Given the description of an element on the screen output the (x, y) to click on. 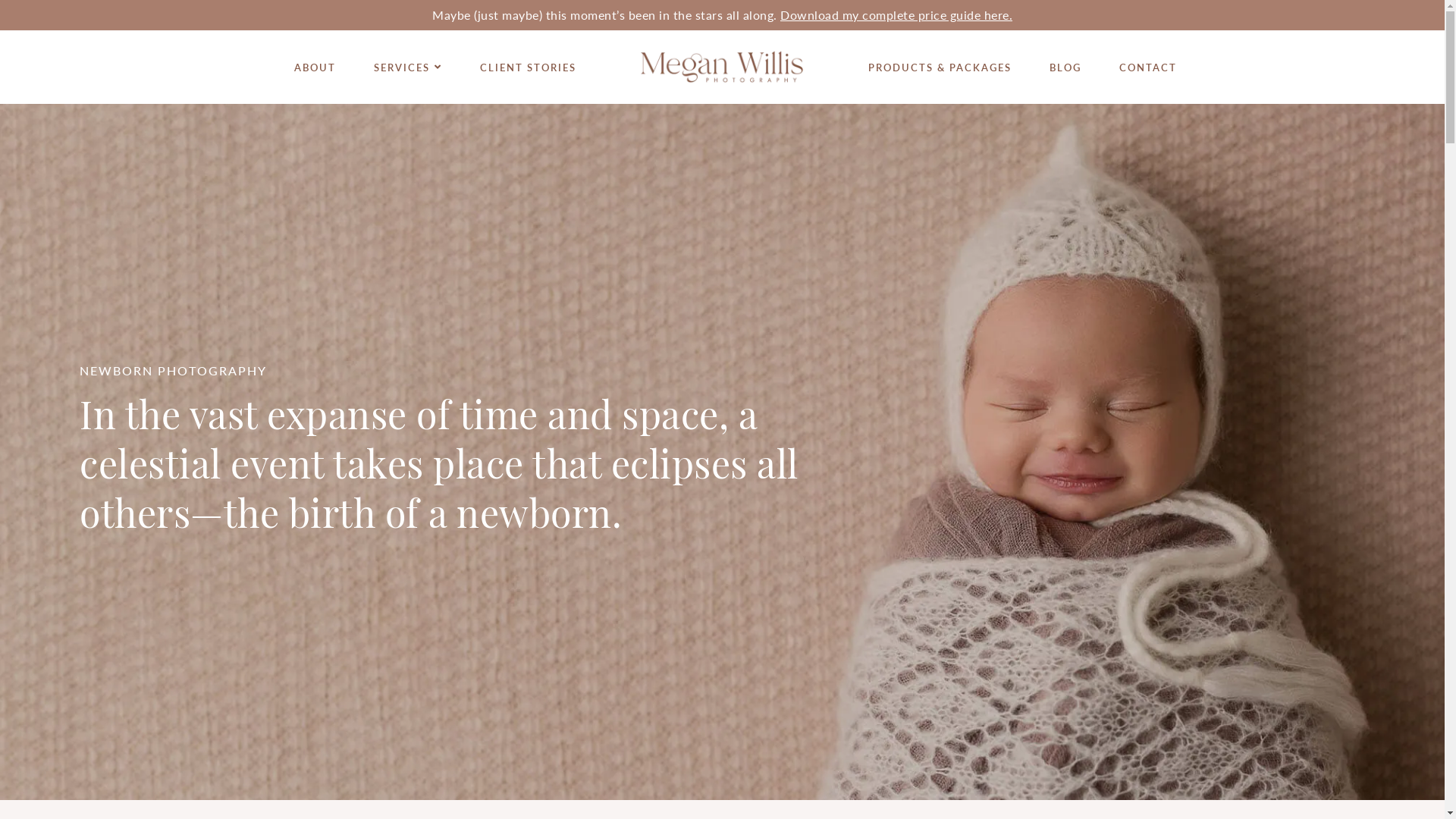
ABOUT Element type: text (314, 67)
CLIENT STORIES Element type: text (528, 67)
PRODUCTS & PACKAGES Element type: text (939, 67)
Download my complete price guide here. Element type: text (896, 14)
CONTACT Element type: text (1147, 67)
BLOG Element type: text (1065, 67)
